Given the description of an element on the screen output the (x, y) to click on. 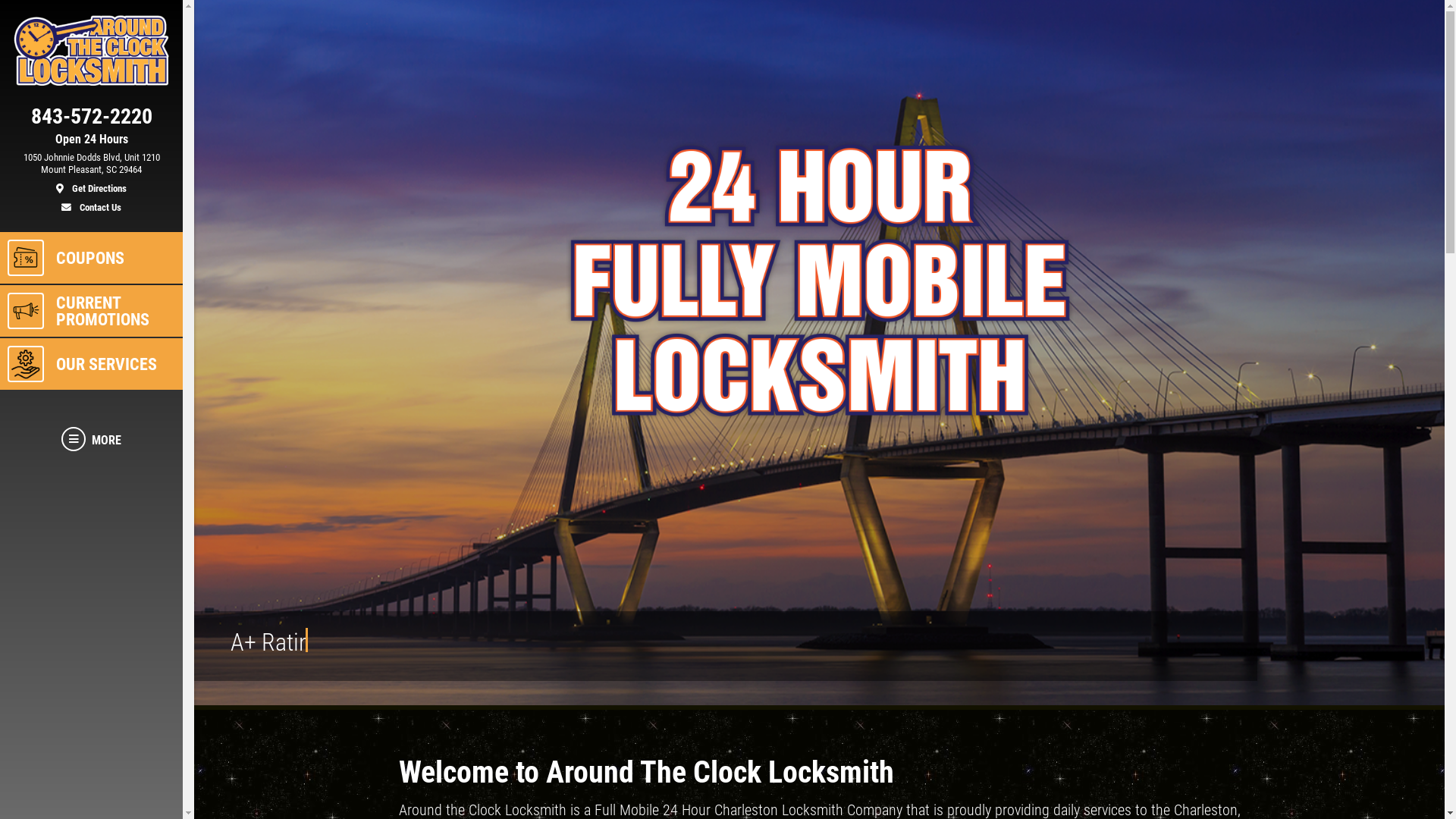
Contact Us Element type: text (91, 204)
MORE Element type: text (90, 440)
Open 24 Hours Element type: text (91, 139)
OUR SERVICES Element type: text (91, 363)
COUPONS Element type: text (91, 257)
843-572-2220 Element type: text (91, 119)
CURRENT PROMOTIONS Element type: text (91, 310)
